Given the description of an element on the screen output the (x, y) to click on. 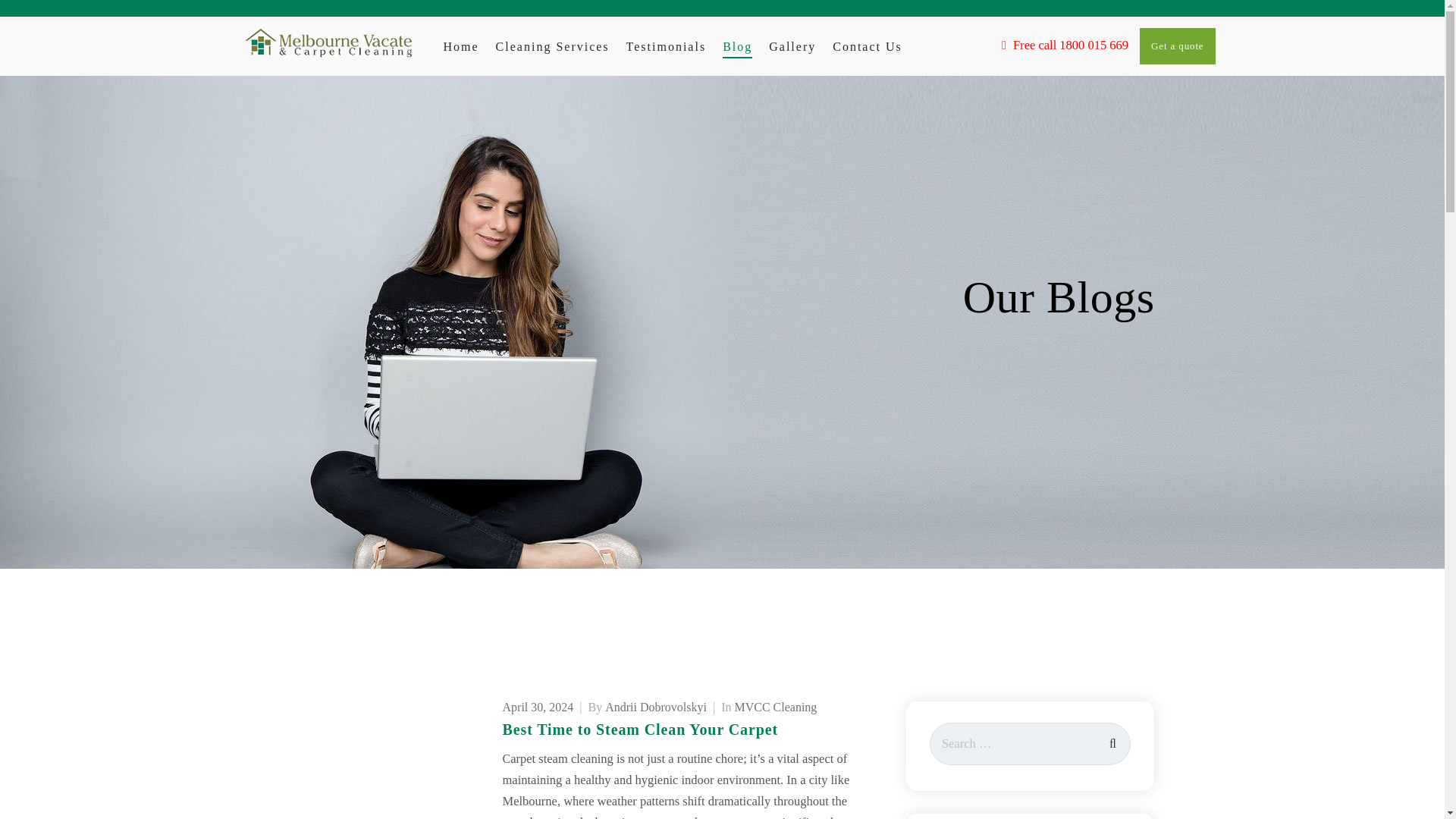
Free call 1800 015 669 (1064, 44)
Home (460, 47)
Search (1112, 740)
Cleaning Services (553, 47)
Testimonials (666, 47)
Gallery (791, 47)
Blog (737, 47)
Contact Us (867, 47)
Search (1112, 740)
